Given the description of an element on the screen output the (x, y) to click on. 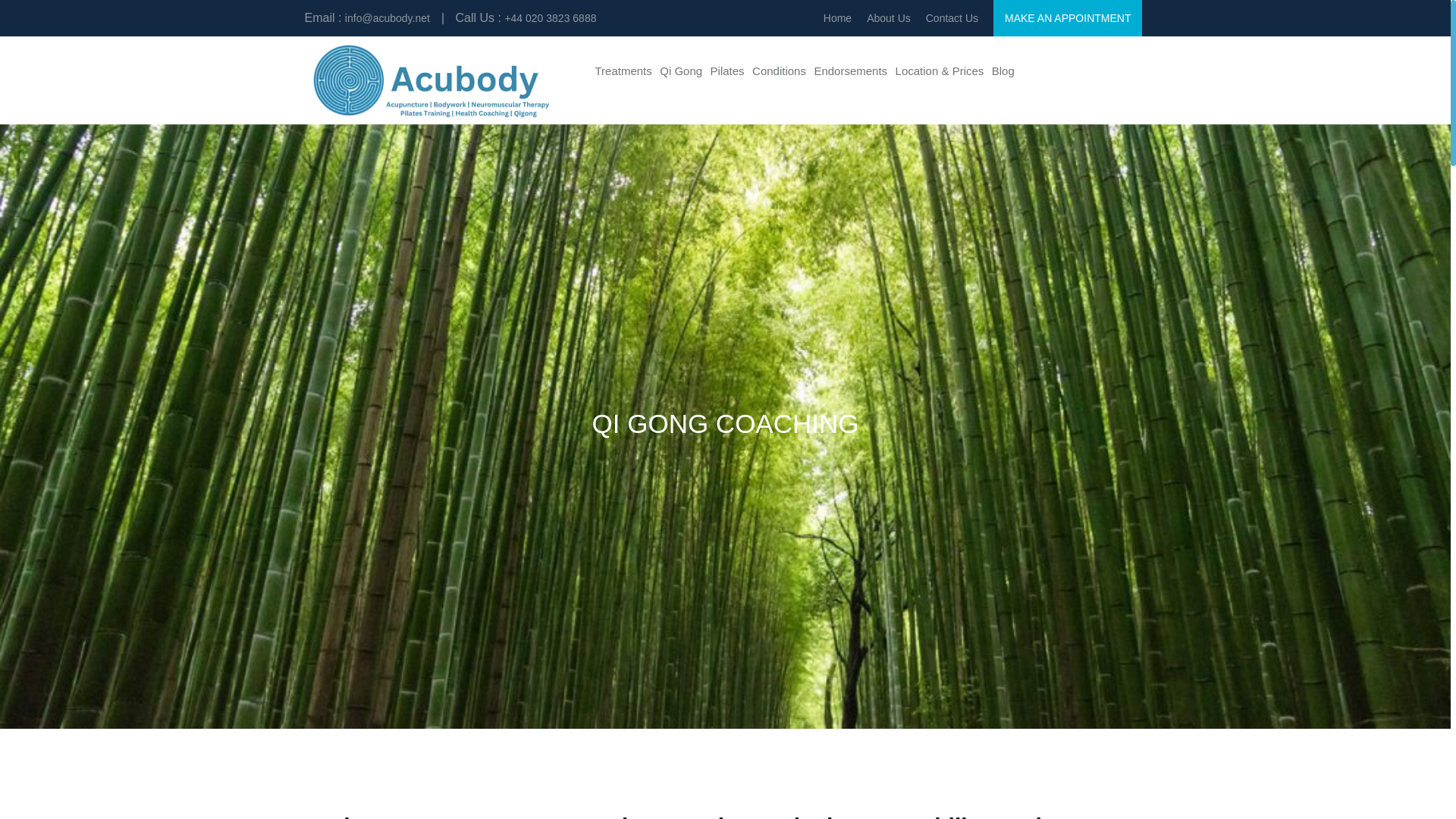
Contact Us (952, 18)
Conditions (778, 71)
Treatments (622, 71)
Qi Gong (681, 71)
Endorsements (849, 71)
About Us (888, 18)
MAKE AN APPOINTMENT (1066, 18)
Pilates (726, 71)
